Given the description of an element on the screen output the (x, y) to click on. 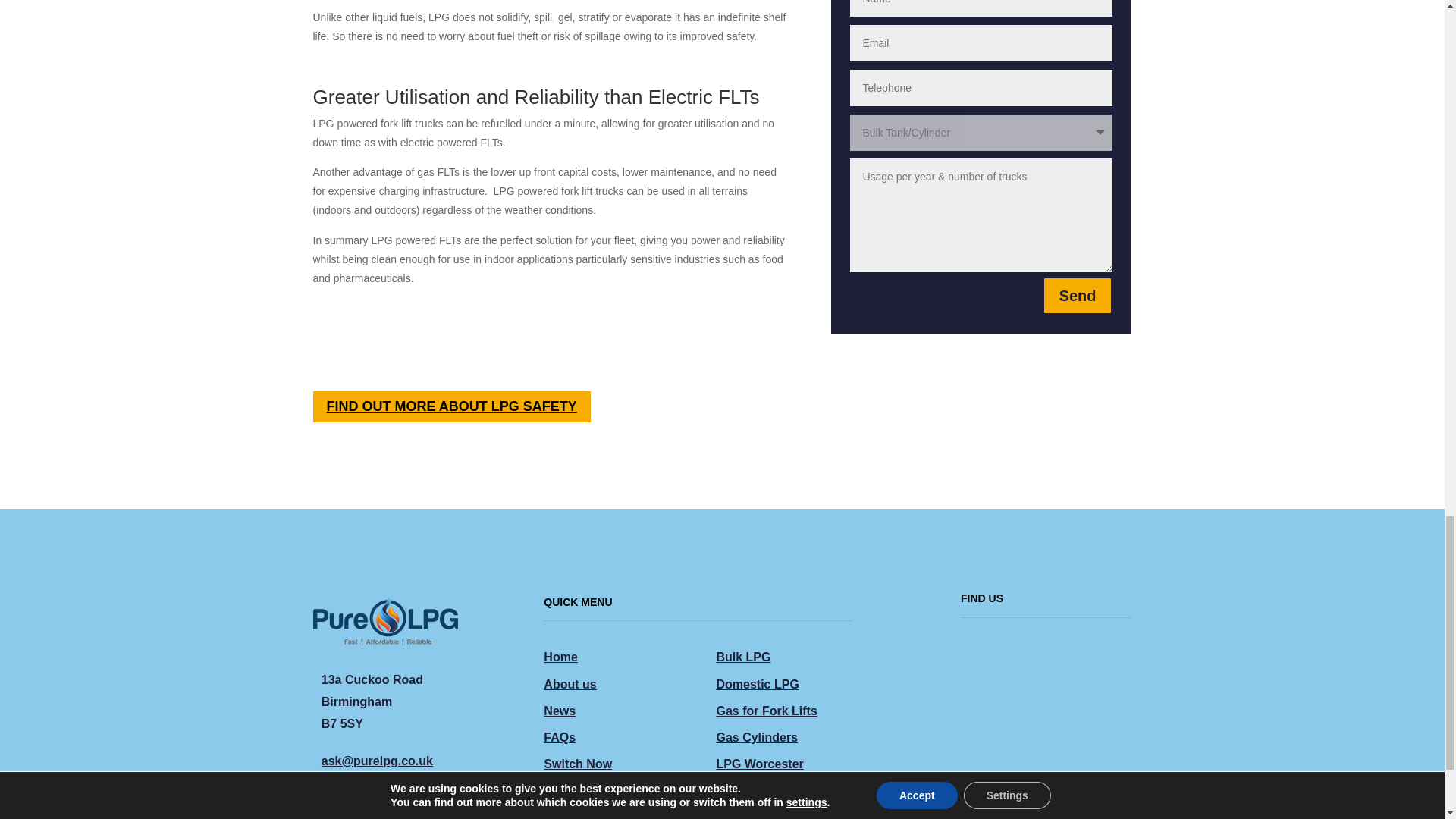
Pure LPG Gas Logo (385, 618)
Follow on Instagram (393, 809)
About us (569, 684)
Follow on X (363, 809)
Follow on LinkedIn (424, 809)
FIND OUT MORE ABOUT LPG SAFETY (451, 406)
Follow on Facebook (333, 809)
Send (1077, 295)
Home (559, 656)
